Given the description of an element on the screen output the (x, y) to click on. 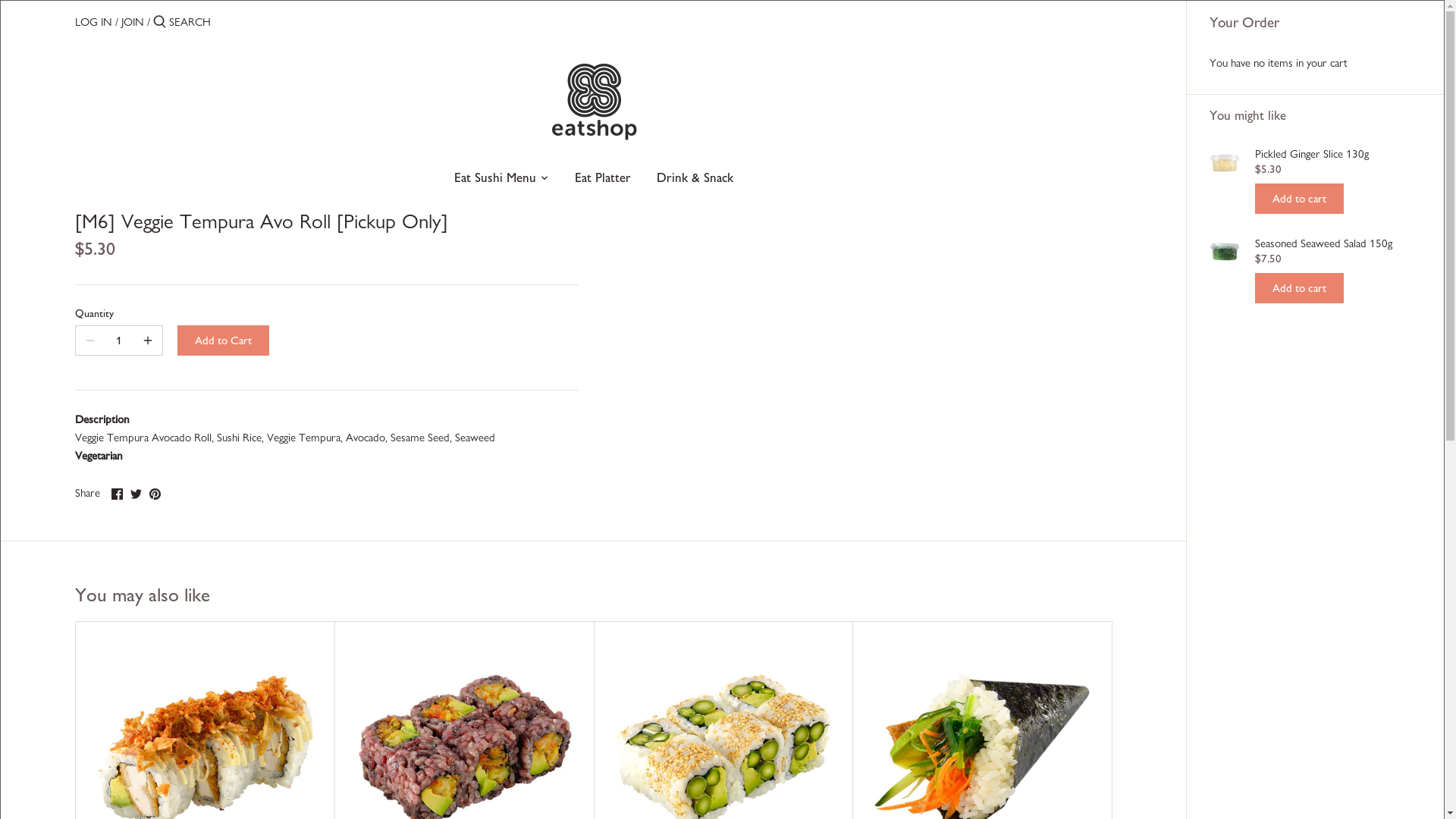
Twitter
Share on Twitter Element type: text (135, 491)
Add to Cart Element type: text (223, 340)
Add to cart Element type: text (1299, 288)
Seasoned Seaweed Salad 150g Element type: text (1338, 243)
LOG IN Element type: text (93, 21)
Facebook
Share on Facebook Element type: text (116, 491)
JOIN Element type: text (132, 21)
Eat Sushi Menu Element type: text (495, 179)
Add to cart Element type: text (1299, 198)
Eat Platter Element type: text (602, 179)
Pinterest
Pin it Element type: text (154, 491)
Pickled Ginger Slice 130g Element type: text (1338, 153)
Drink & Snack Element type: text (694, 179)
